Given the description of an element on the screen output the (x, y) to click on. 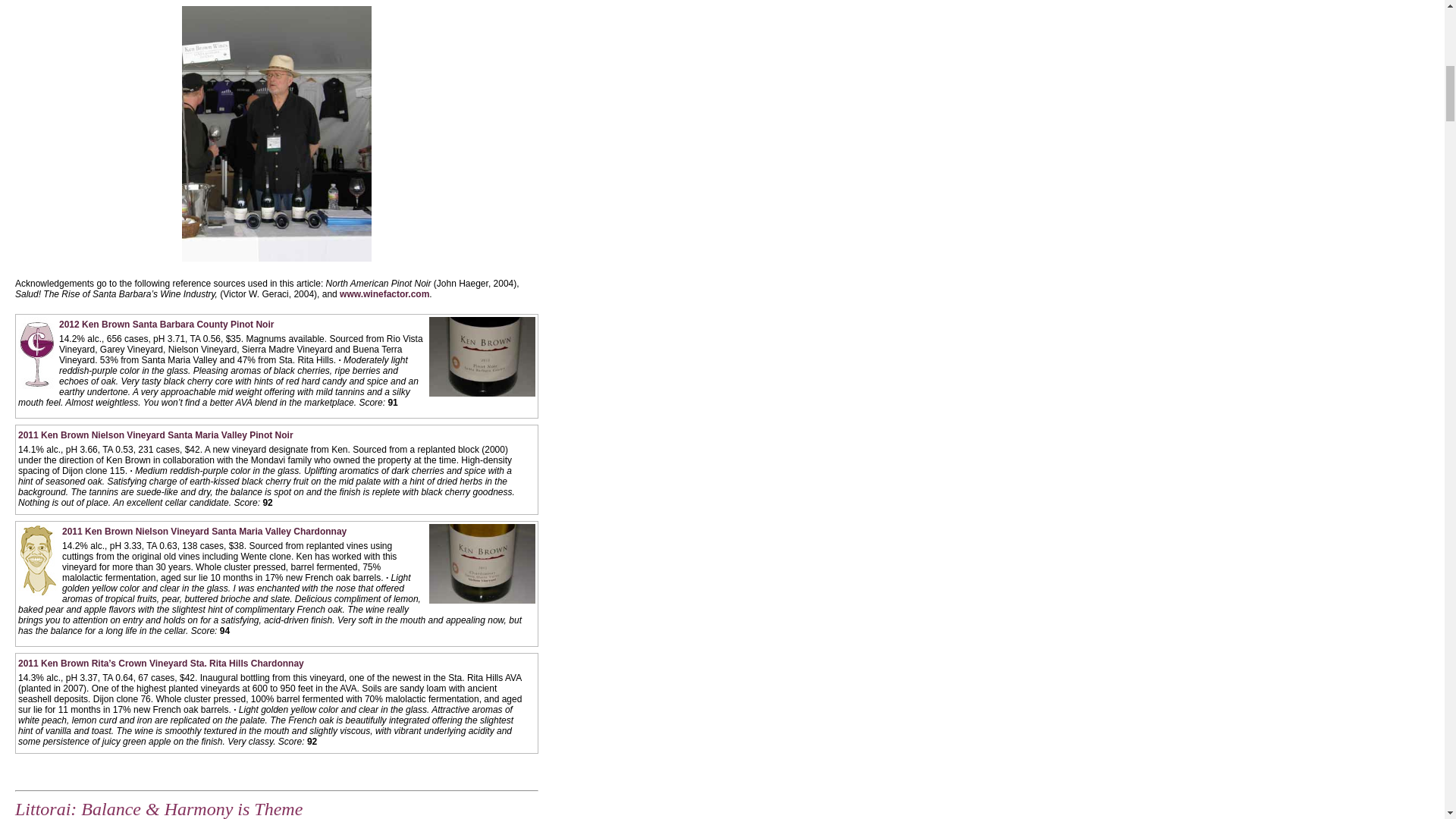
2012 Ken Brown Santa Barbara County Pinot Noir (166, 324)
www.winefactor.com (384, 294)
